Given the description of an element on the screen output the (x, y) to click on. 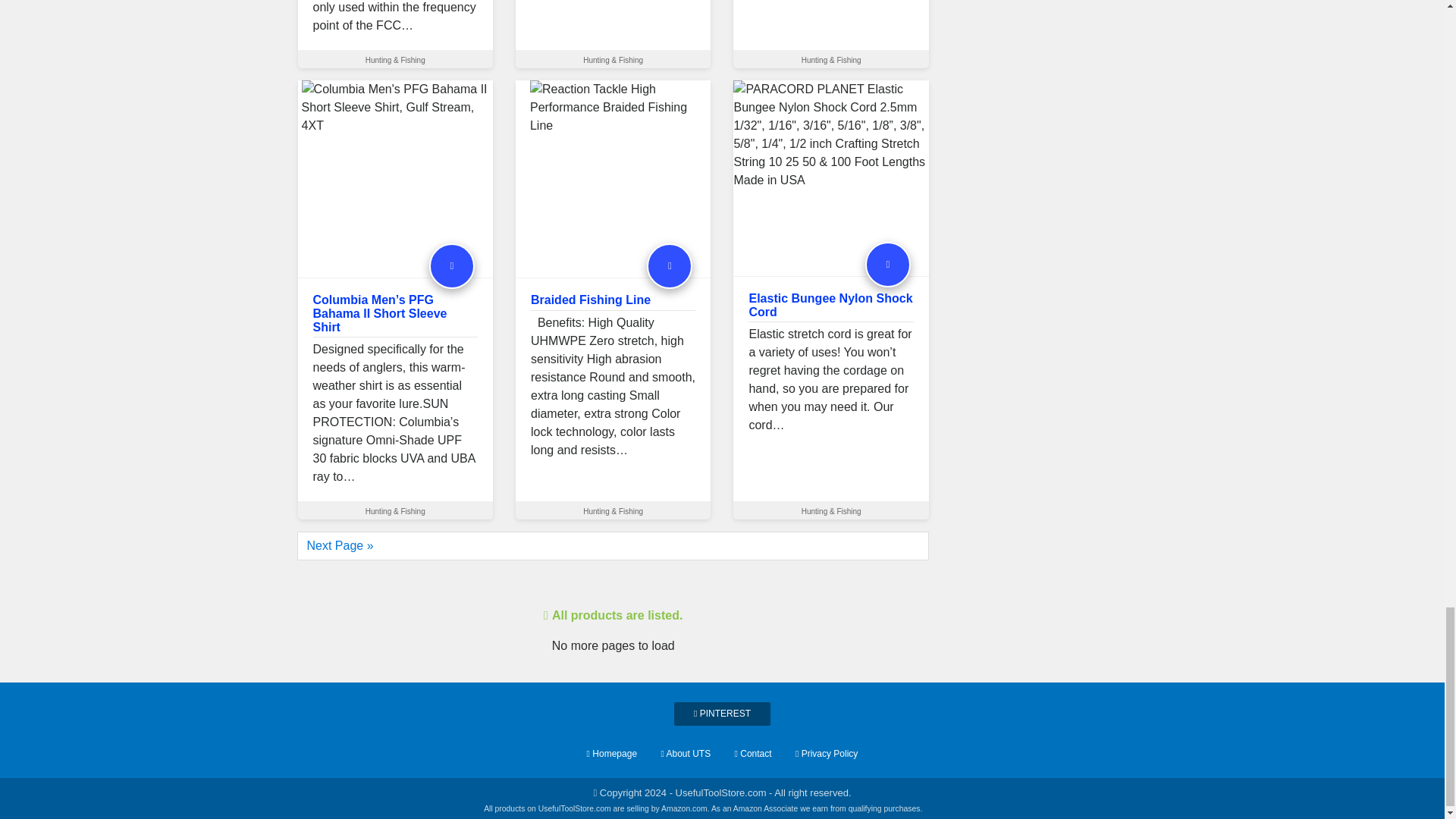
All products are listed. (612, 607)
Loading... (612, 615)
No more pages to load (612, 583)
